Given the description of an element on the screen output the (x, y) to click on. 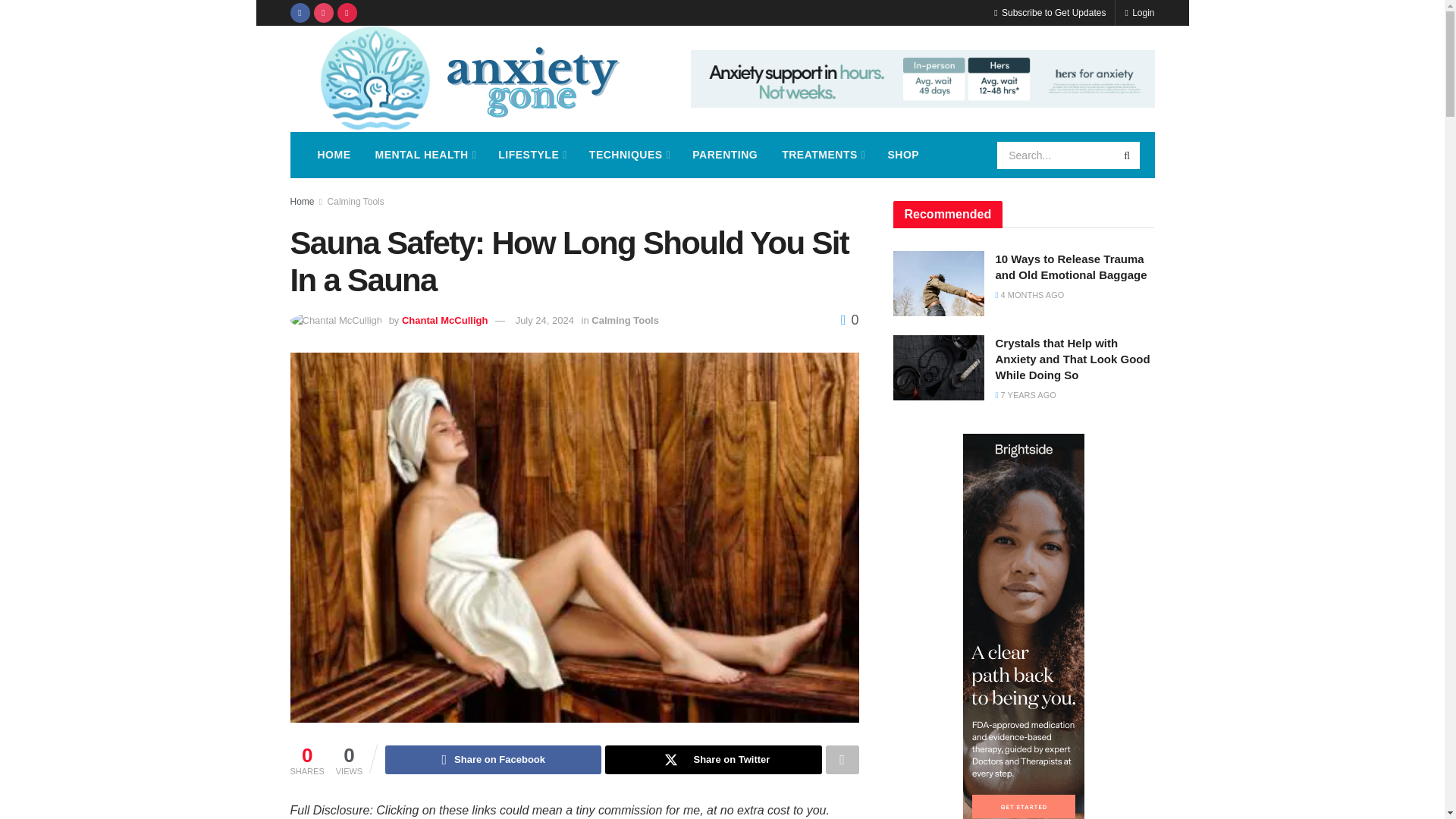
MENTAL HEALTH (424, 154)
Subscribe to Get Updates (1049, 12)
Login (1139, 12)
HOME (333, 154)
